Given the description of an element on the screen output the (x, y) to click on. 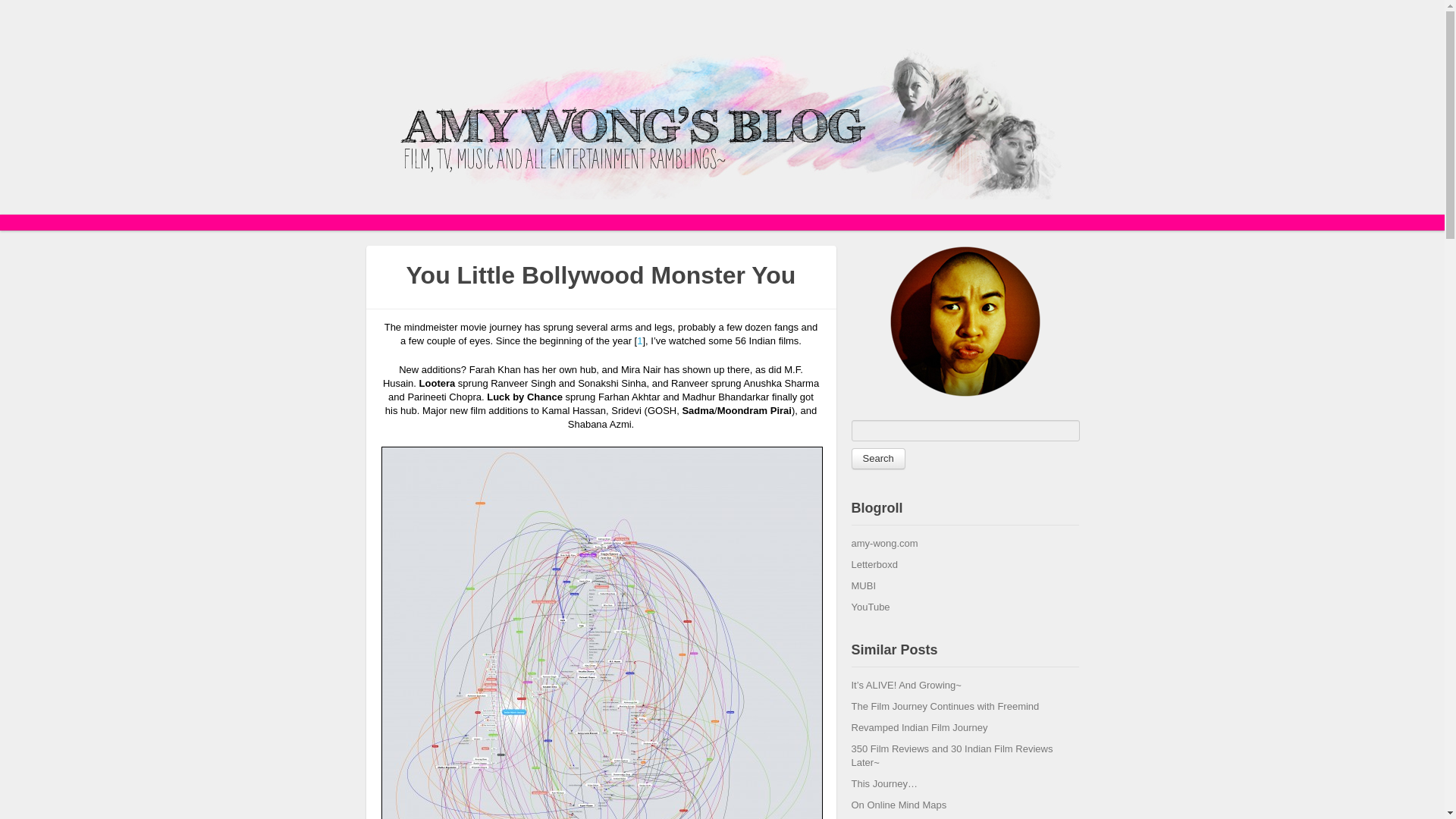
January 18, 2014 (905, 685)
April 20, 2014 (944, 706)
Search (877, 458)
Letterboxd (873, 564)
MUBI (863, 585)
amy-wong.com (883, 542)
August 10, 2014 (918, 727)
Search (877, 458)
